Given the description of an element on the screen output the (x, y) to click on. 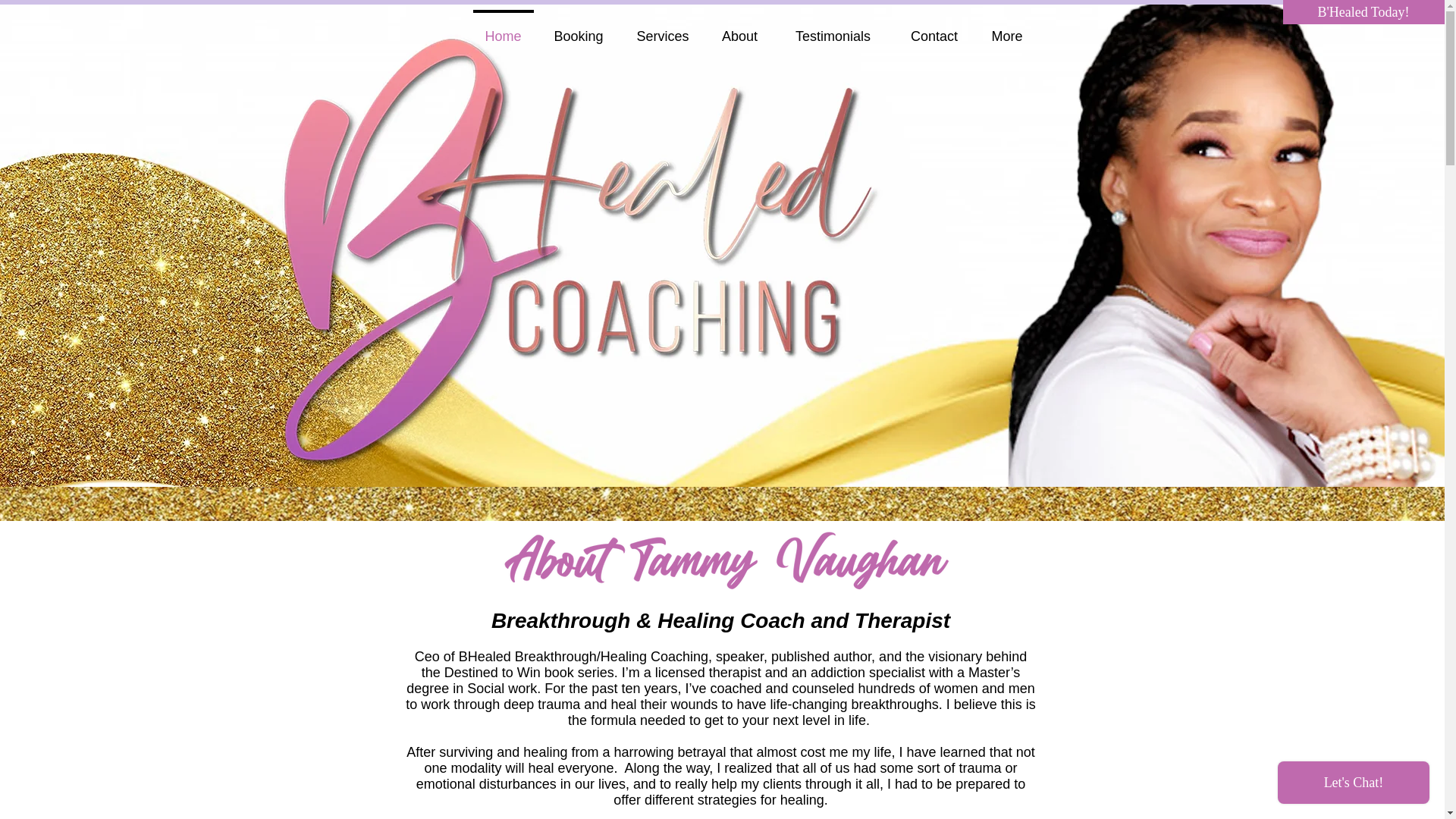
Services (663, 29)
Contact (933, 29)
About (738, 29)
Home (502, 29)
Testimonials (832, 29)
Booking (578, 29)
